Given the description of an element on the screen output the (x, y) to click on. 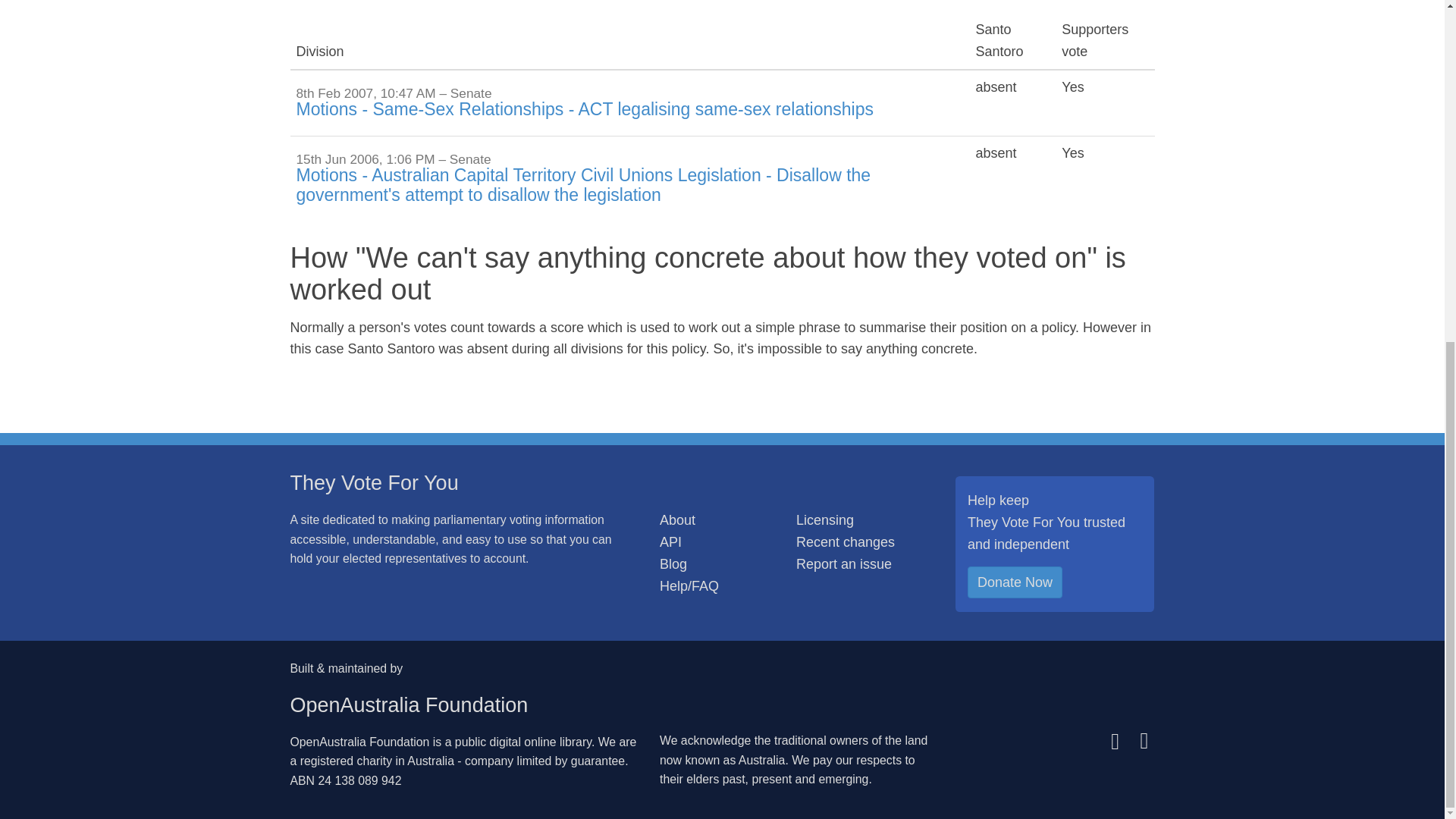
Report a bug or contribute an idea (843, 563)
Report an issue (843, 563)
OpenAustralia Foundation (359, 741)
registered charity (345, 760)
API (670, 541)
OpenAustralia Foundation (408, 704)
Recent changes (845, 541)
24 138 089 942 (359, 780)
Licensing (824, 519)
